Given the description of an element on the screen output the (x, y) to click on. 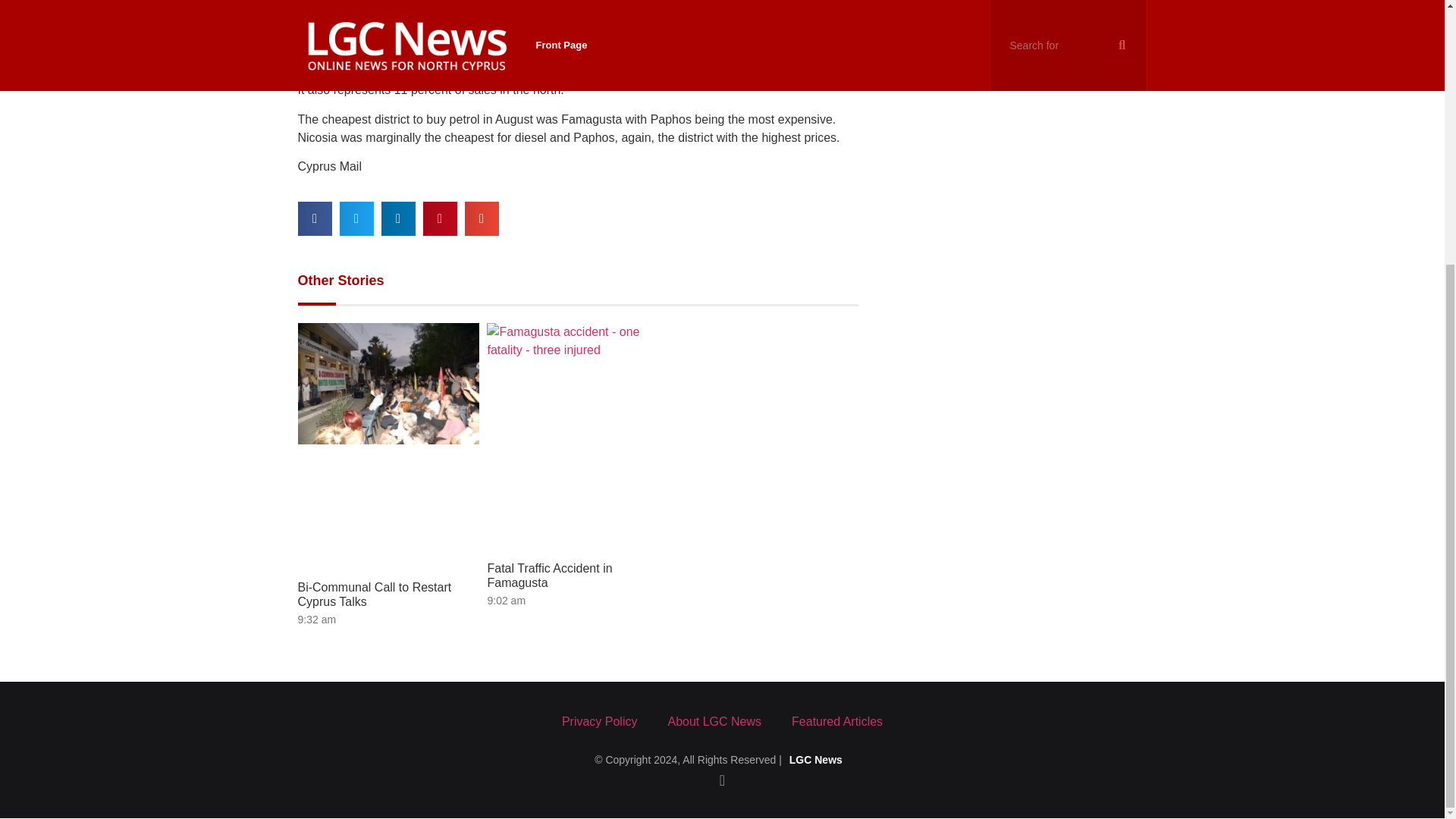
Fatal Traffic Accident in Famagusta (548, 574)
Privacy Policy (599, 721)
CTP Issued Statement on World Peace Day (981, 24)
Featured Articles (837, 721)
Bi-Communal Call to Restart Cyprus Talks (374, 594)
LGC News (816, 759)
About LGC News (714, 721)
